Given the description of an element on the screen output the (x, y) to click on. 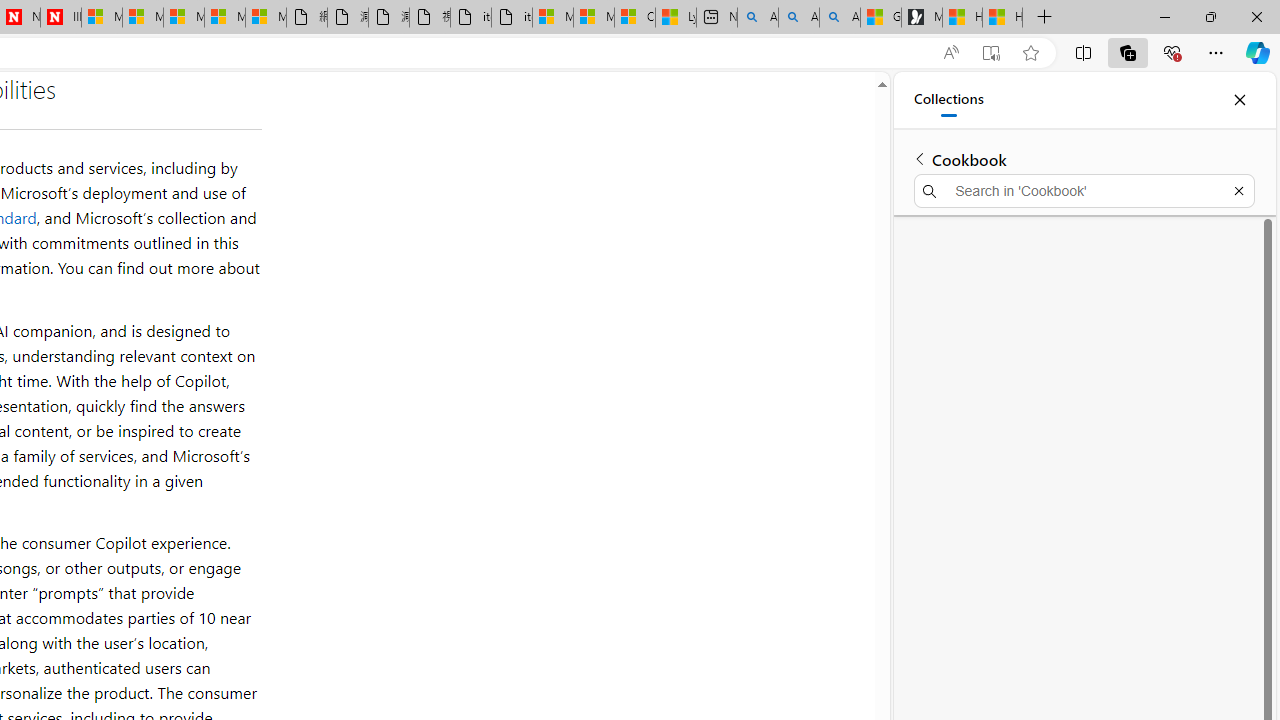
Exit search (1238, 190)
Illness news & latest pictures from Newsweek.com (60, 17)
Search in 'Cookbook' (1084, 190)
How to Use a TV as a Computer Monitor (1002, 17)
